Given the description of an element on the screen output the (x, y) to click on. 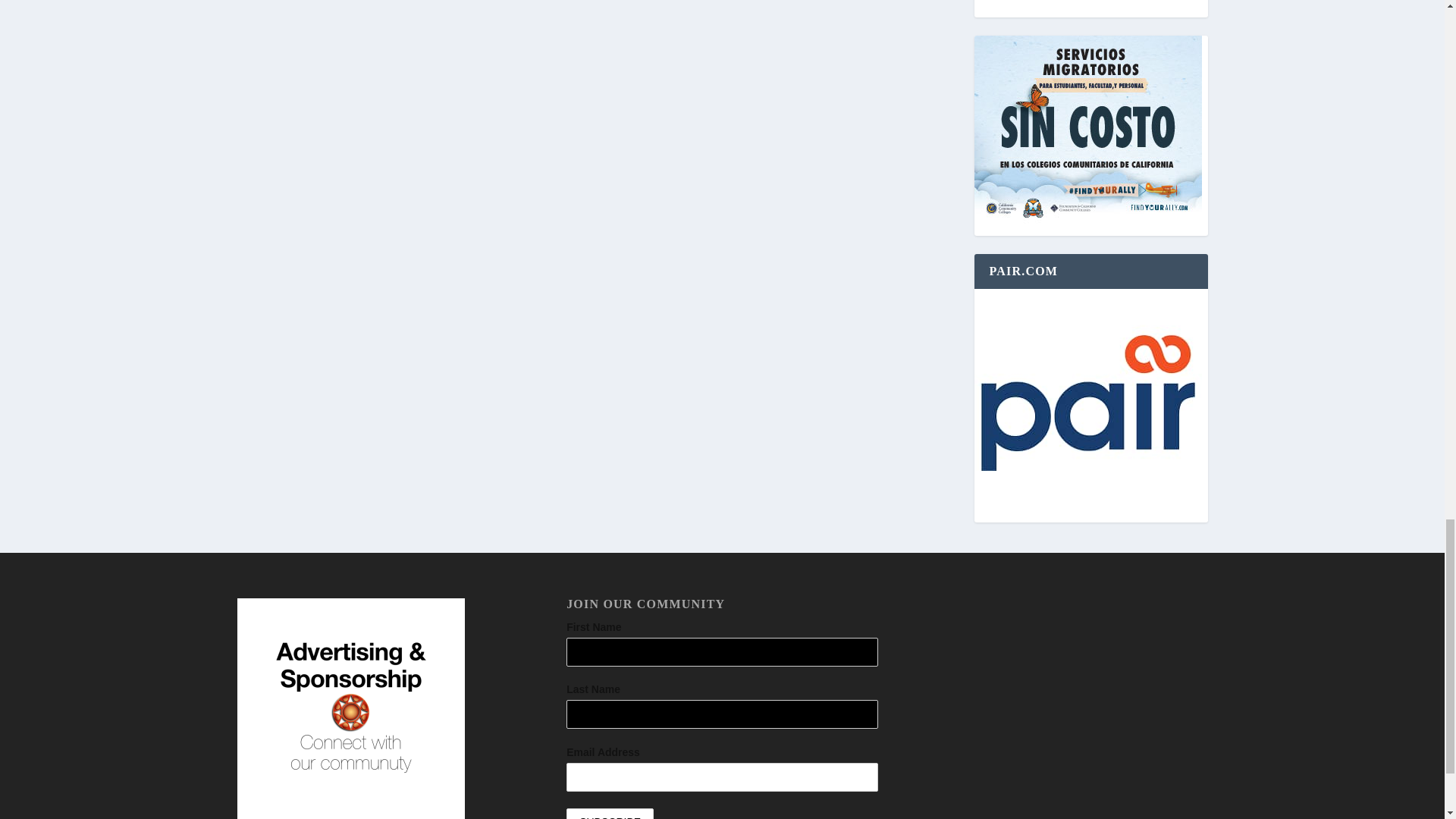
Subscribe (609, 813)
